Given the description of an element on the screen output the (x, y) to click on. 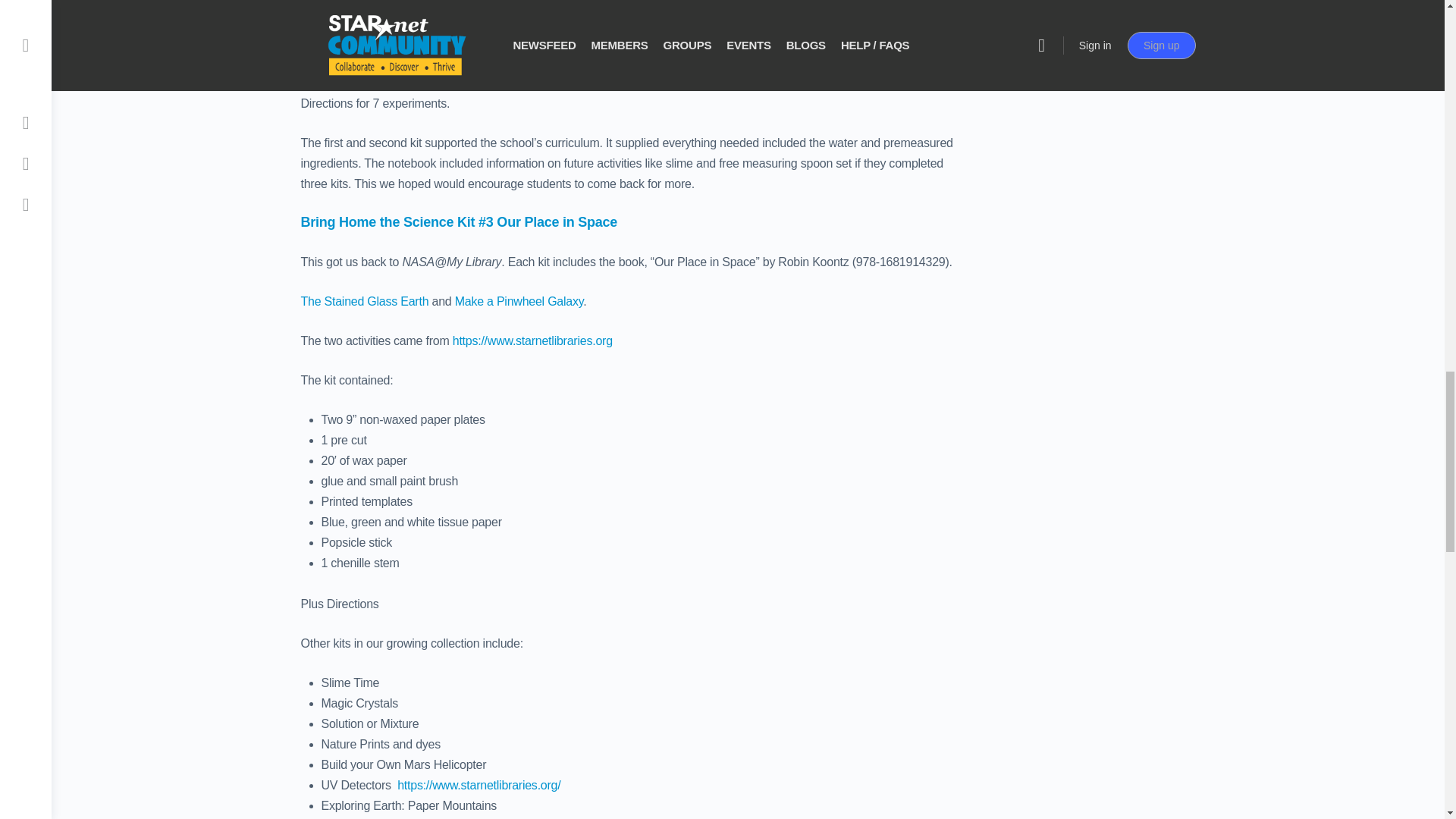
The Stained Glass Earth (363, 300)
Make a Pinwheel Galaxy (518, 300)
